Given the description of an element on the screen output the (x, y) to click on. 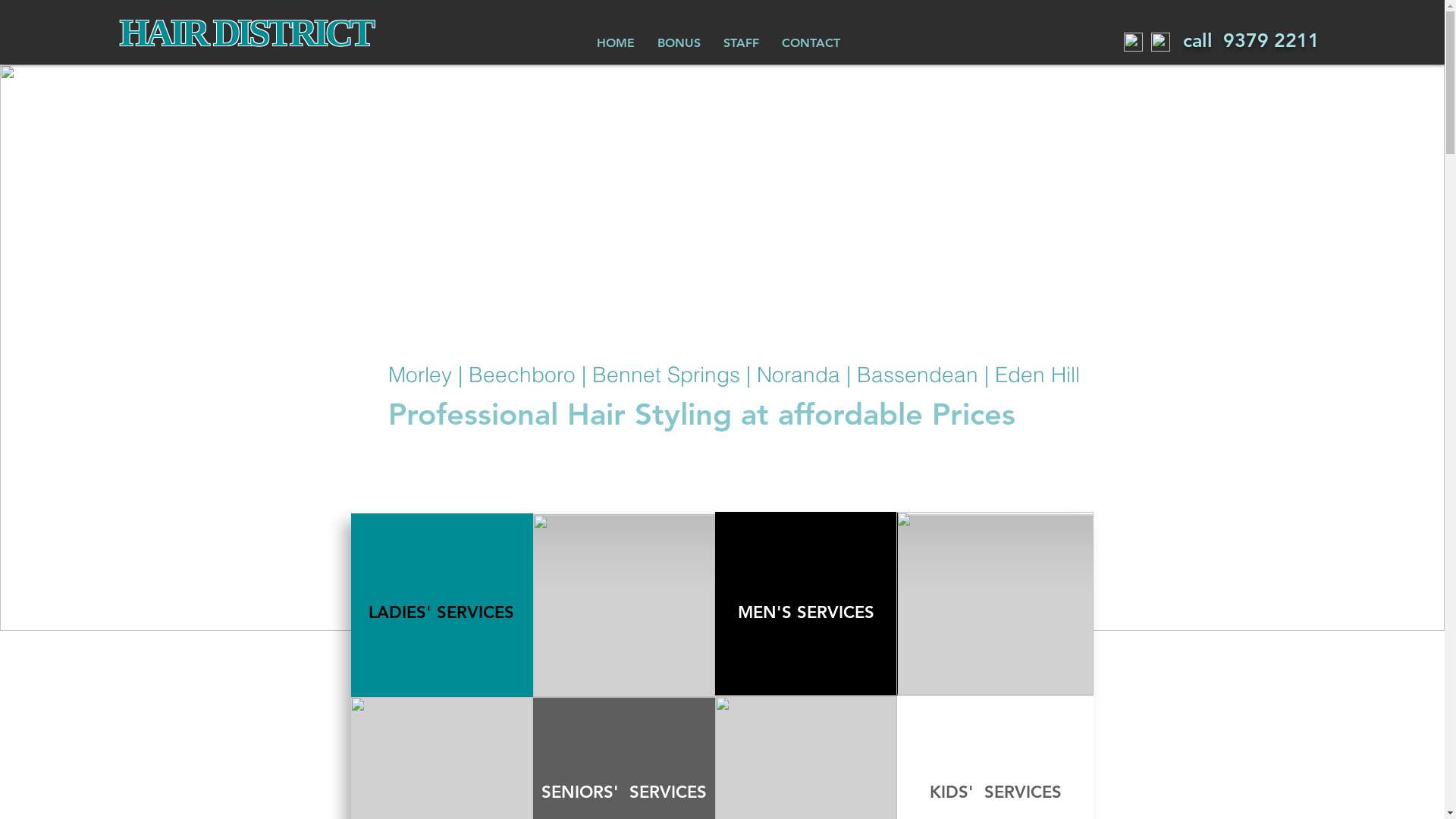
STAFF Element type: text (741, 42)
HOME Element type: text (615, 42)
CONTACT Element type: text (810, 42)
BONUS Element type: text (679, 42)
call  9379 2211 Element type: text (1251, 39)
Edited Image 2016-02-02 12-28-56 Element type: hover (623, 605)
